Given the description of an element on the screen output the (x, y) to click on. 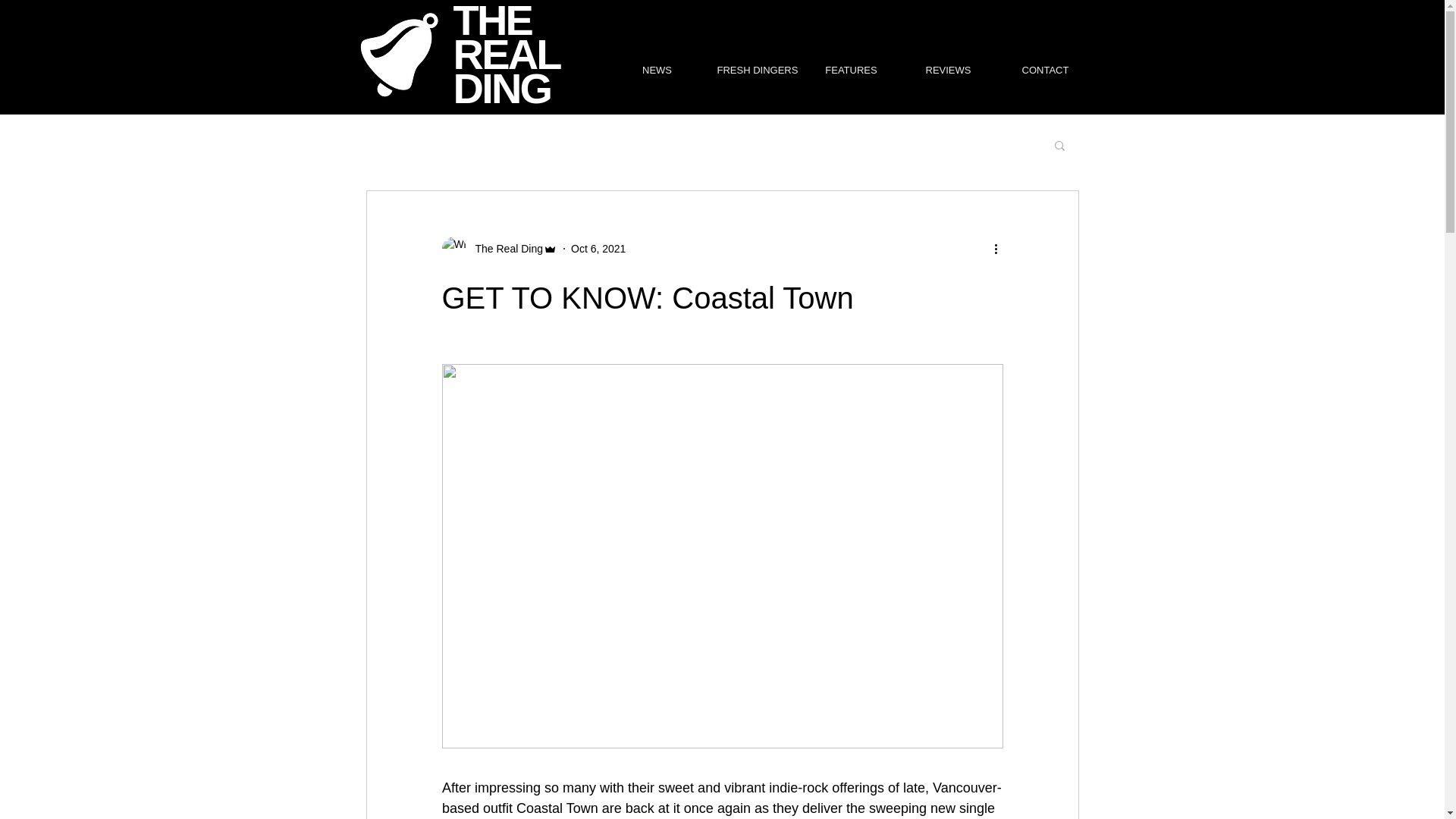
Oct 6, 2021 (598, 248)
NEWS (656, 69)
The Real Ding (504, 248)
FRESH DINGERS (753, 69)
FEATURES (850, 69)
REVIEWS (947, 69)
CONTACT (1044, 69)
